Given the description of an element on the screen output the (x, y) to click on. 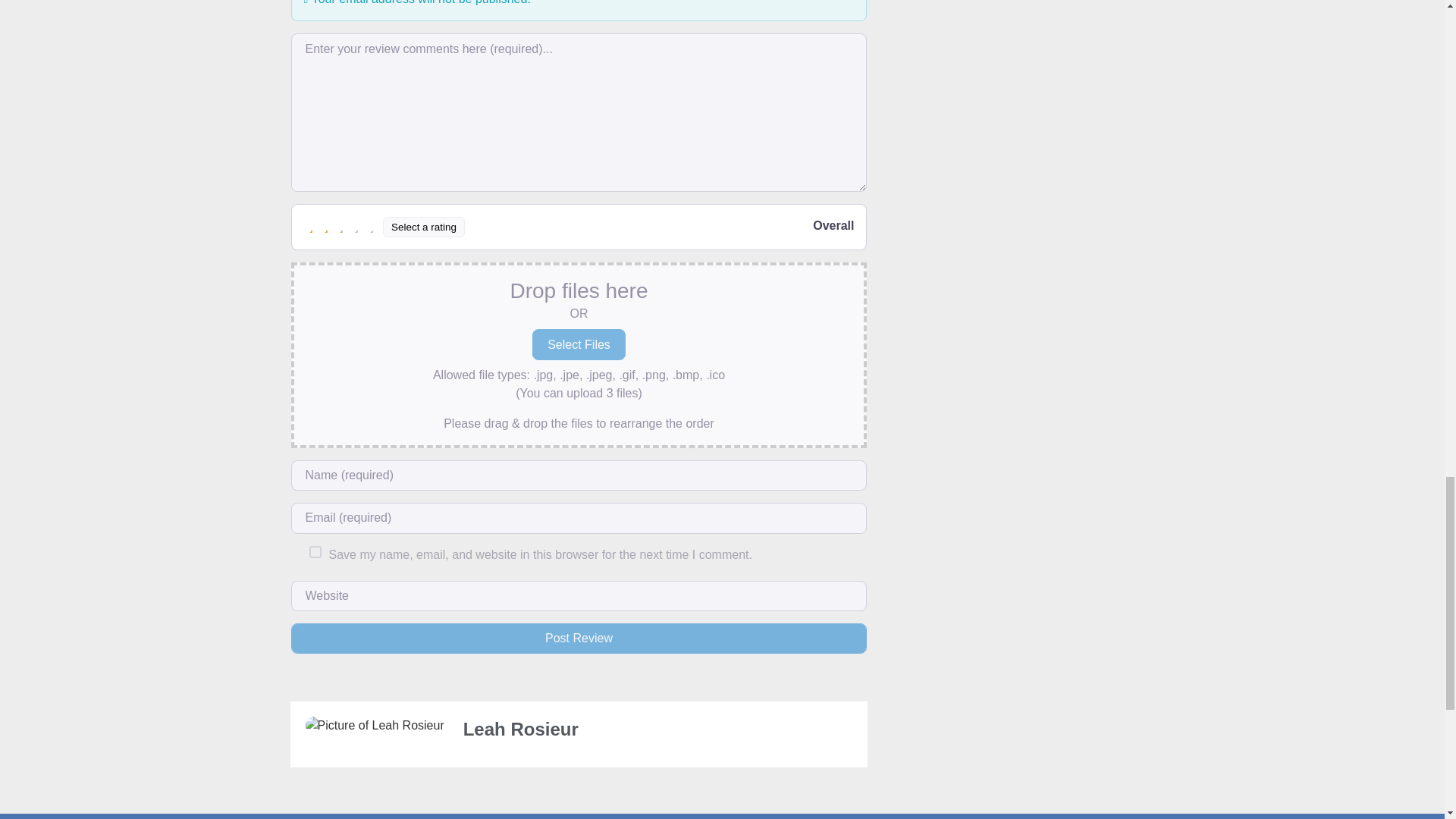
Post Review (579, 638)
Select Files (579, 344)
Poor (325, 226)
Terrible (310, 226)
yes (314, 551)
Excellent (371, 226)
Average (341, 226)
Very Good (356, 226)
